Given the description of an element on the screen output the (x, y) to click on. 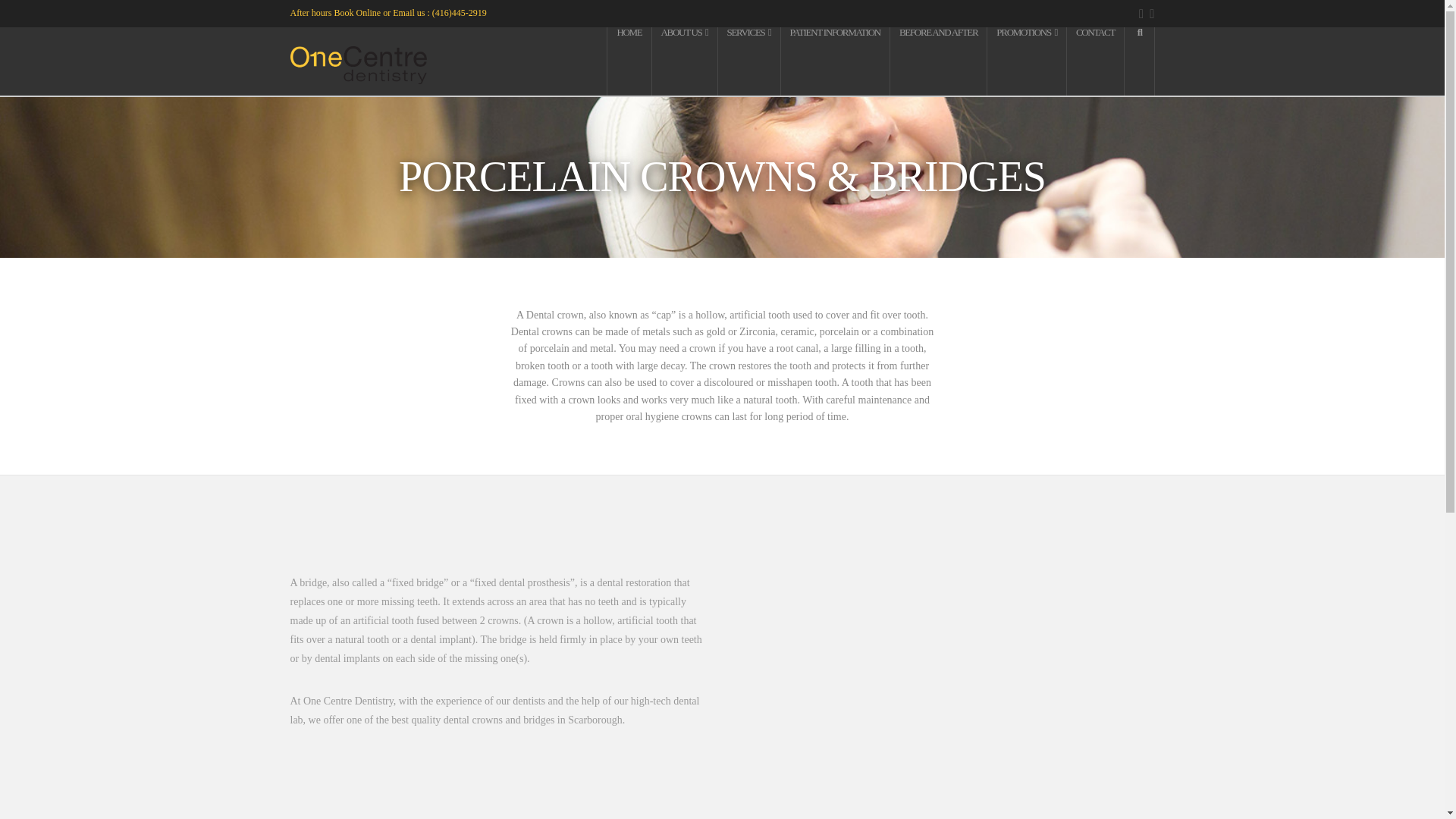
After hours Book Online or Email us : (359, 12)
ABOUT US (684, 61)
SERVICES (748, 61)
